Given the description of an element on the screen output the (x, y) to click on. 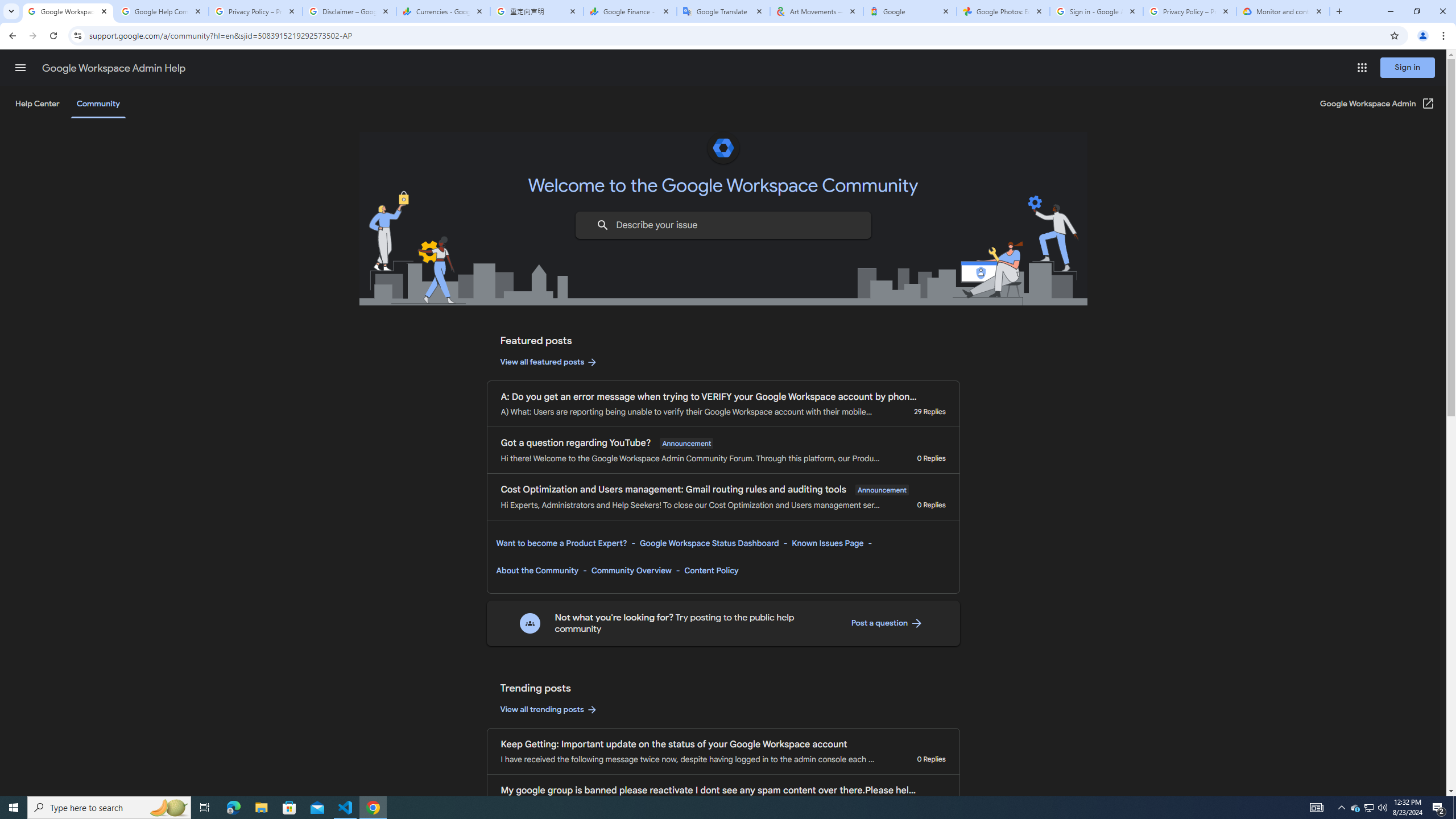
Transform (59, 567)
Back (59, 54)
Account (59, 722)
Print (59, 504)
